Given the description of an element on the screen output the (x, y) to click on. 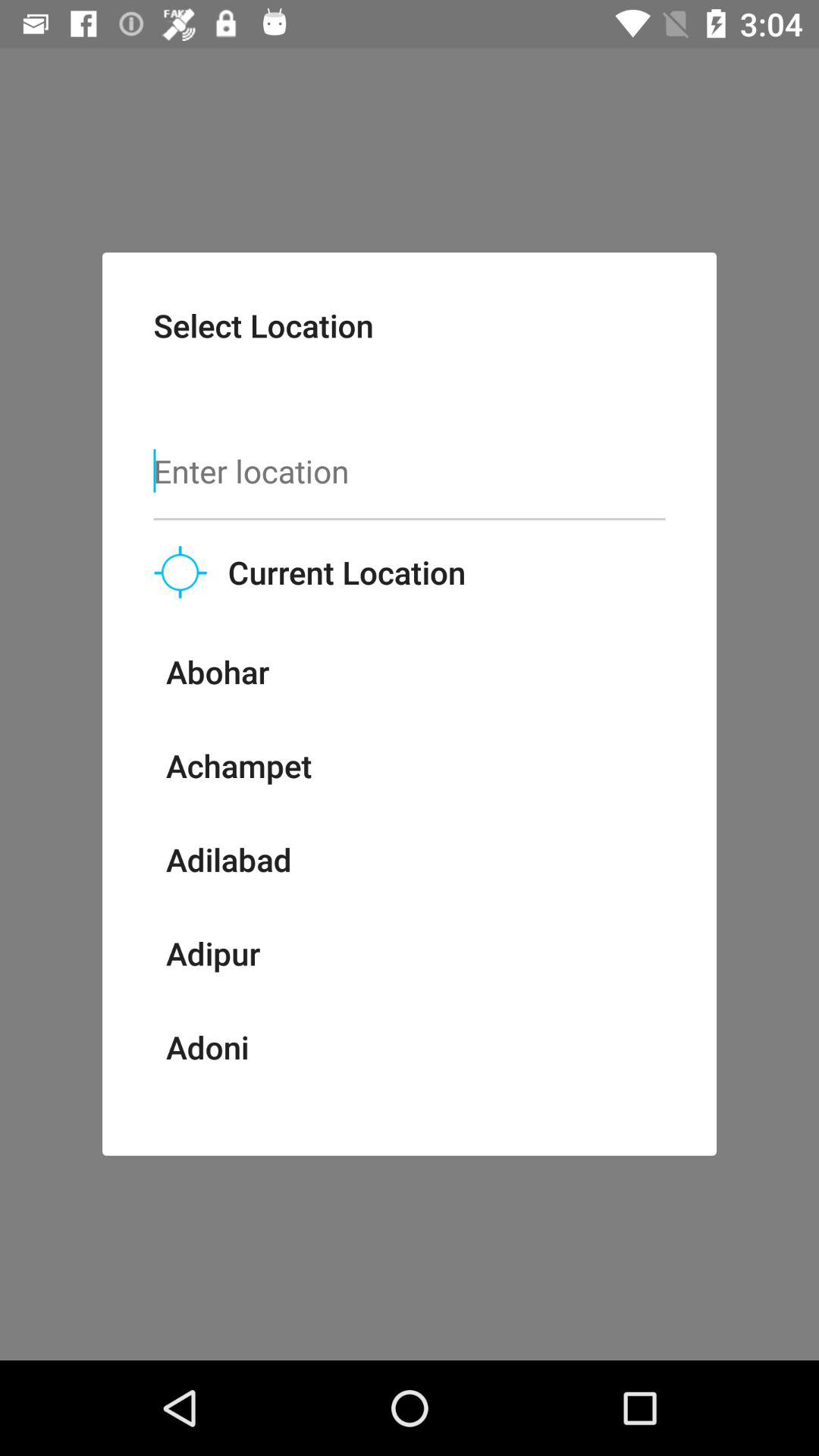
open item next to the current location icon (180, 572)
